Given the description of an element on the screen output the (x, y) to click on. 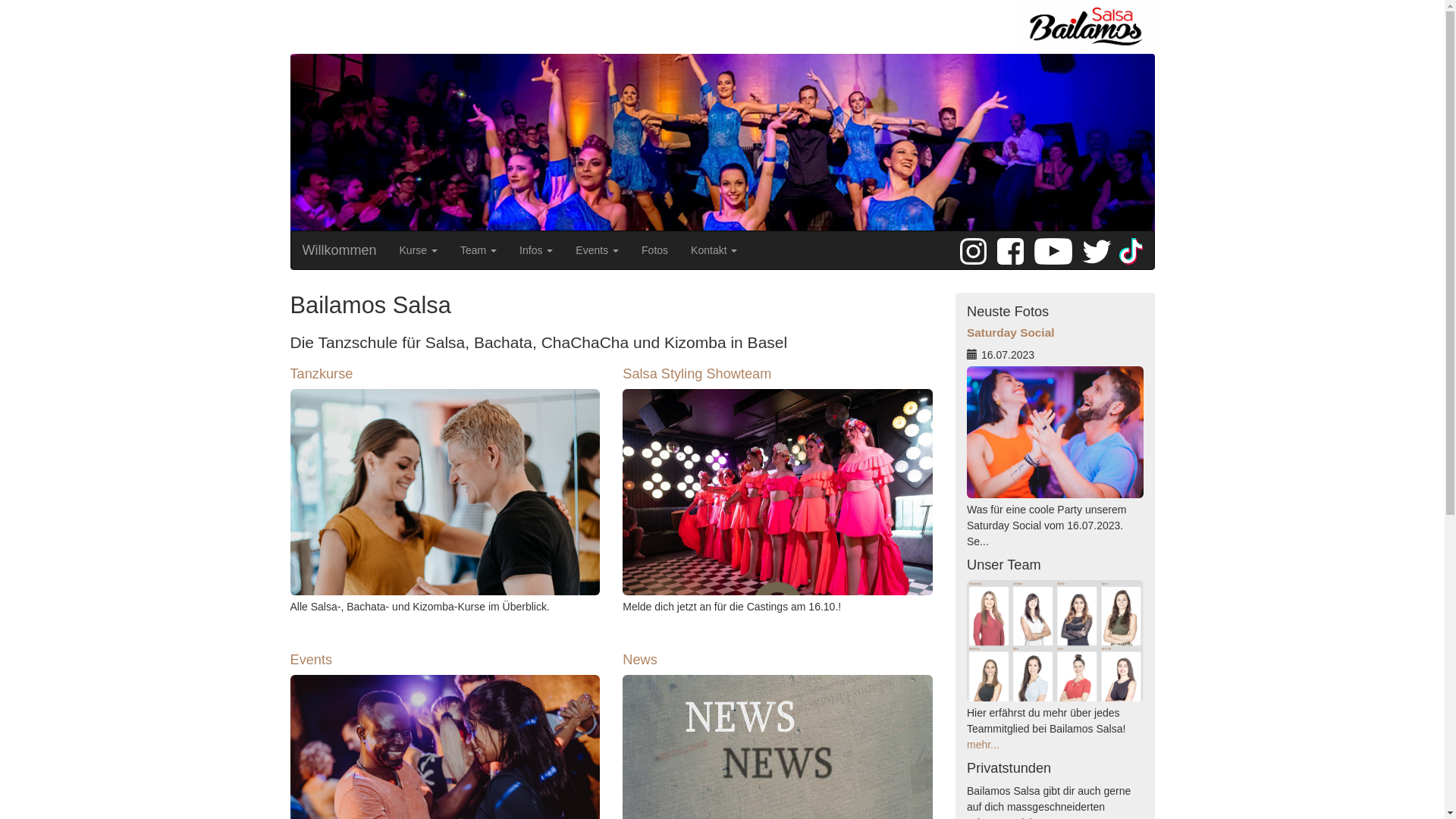
Besuchen Sie uns auf Instagram Element type: hover (977, 247)
News Element type: text (777, 659)
Besuchen Sie uns auf Twitter Element type: hover (1098, 247)
Fotos Element type: text (654, 250)
Team Element type: text (478, 250)
mehr... Element type: text (982, 744)
Besuchen Sie uns auf YouTube Element type: hover (1056, 247)
Saturday Social Element type: text (1054, 343)
Infos Element type: text (536, 250)
Willkommen Element type: text (339, 250)
Besuchen Sie uns auf Facebook Element type: hover (1014, 247)
Tanzkurse Element type: text (444, 373)
Salsa Styling Showteam Element type: text (777, 373)
Events Element type: text (444, 659)
Kurse Element type: text (418, 250)
Kontakt Element type: text (713, 250)
Events Element type: text (597, 250)
Besuchen Sie uns auf TikTok Element type: hover (1140, 247)
